Given the description of an element on the screen output the (x, y) to click on. 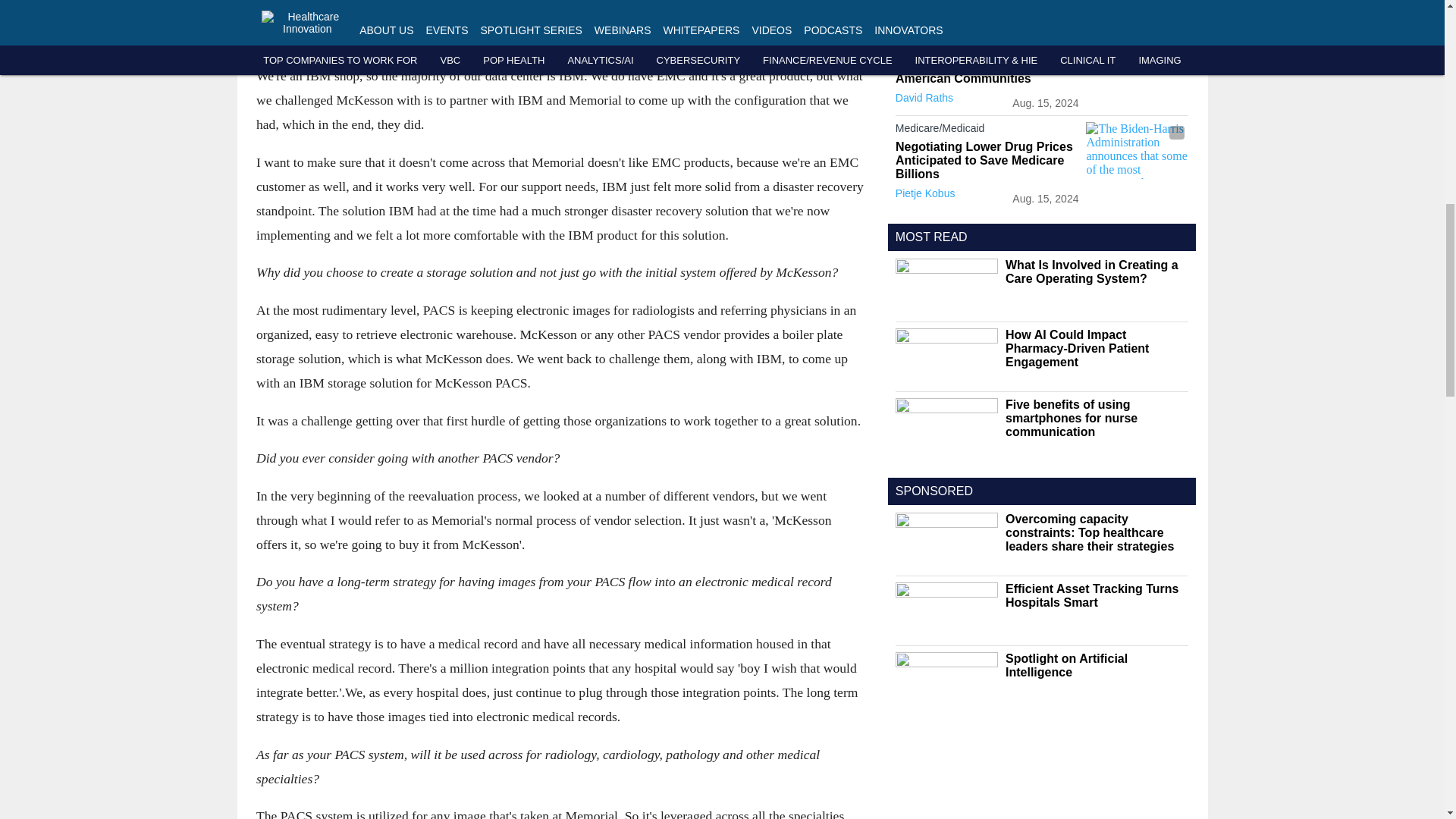
Behavioral Health (986, 35)
LATEST IN HOME (945, 5)
